Given the description of an element on the screen output the (x, y) to click on. 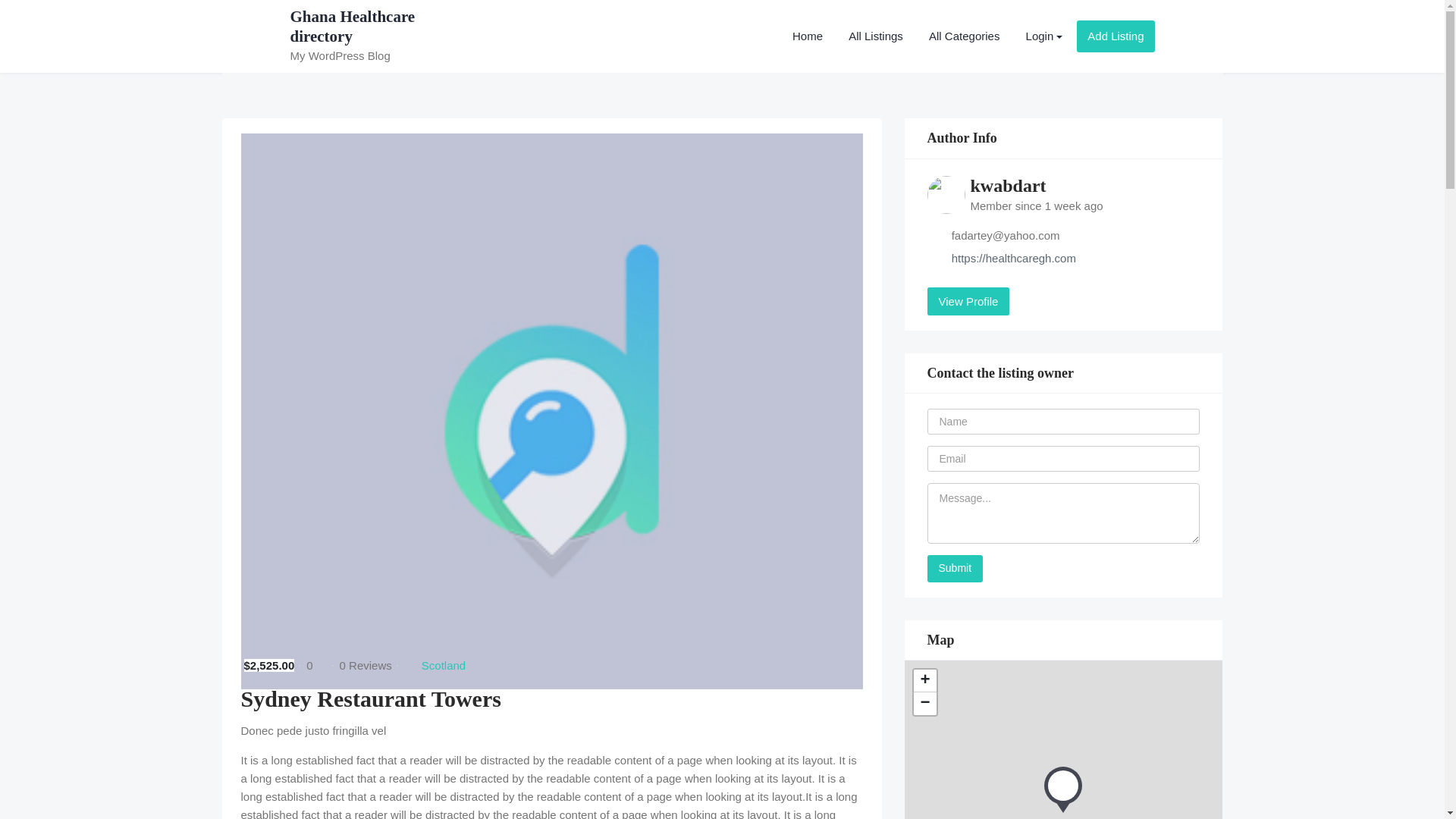
Scotland (443, 665)
Add Listing (1115, 36)
Zoom out (924, 703)
All Listings (875, 36)
Zoom in (924, 680)
Ghana Healthcare directory (351, 26)
Login (1044, 36)
All Categories (963, 36)
Home (807, 36)
